Given the description of an element on the screen output the (x, y) to click on. 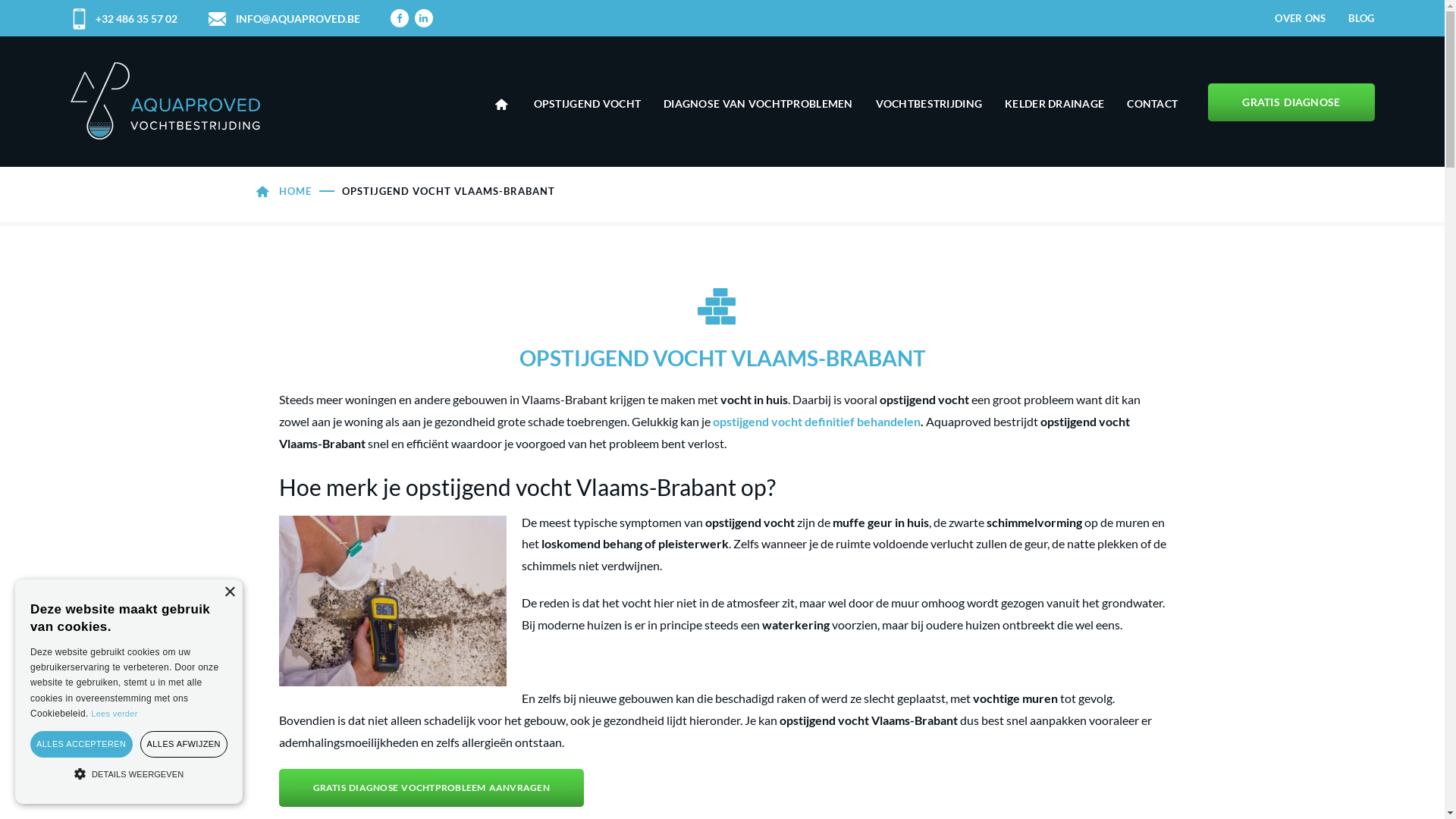
BLOG Element type: text (1361, 17)
CONTACT Element type: text (1151, 103)
VOCHTBESTRIJDING Element type: text (928, 103)
HOME Element type: text (295, 191)
  Element type: text (503, 103)
DIAGNOSE VAN VOCHTPROBLEMEN Element type: text (758, 103)
OPSTIJGEND VOCHT Element type: text (586, 103)
opstijgend vocht definitief behandelen Element type: text (816, 421)
INFO@AQUAPROVED.BE Element type: text (283, 18)
OVER ONS Element type: text (1299, 17)
GRATIS DIAGNOSE VOCHTPROBLEEM AANVRAGEN Element type: text (431, 787)
+32 486 35 57 02 Element type: text (122, 18)
GRATIS DIAGNOSE Element type: text (1291, 102)
Aquaproved Element type: hover (164, 100)
Lees verder Element type: text (114, 713)
KELDER DRAINAGE Element type: text (1054, 103)
